Given the description of an element on the screen output the (x, y) to click on. 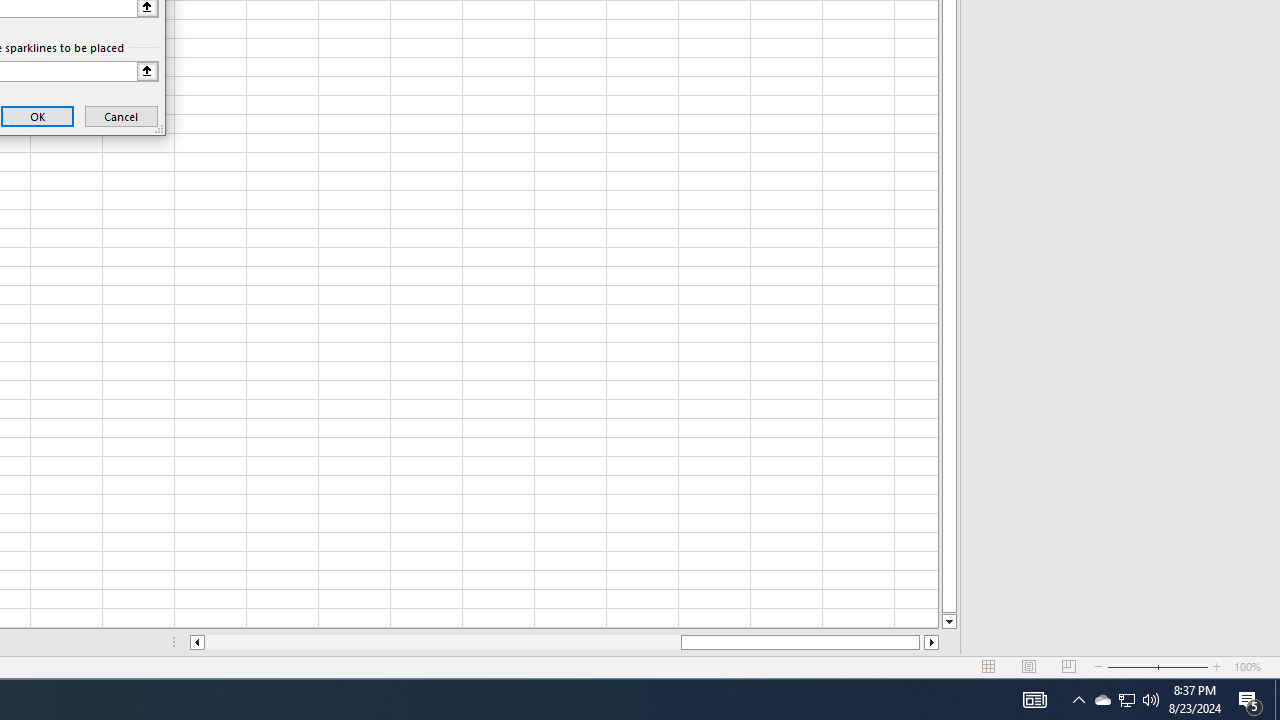
AutomationID: 4105 (1034, 699)
Notification Chevron (1126, 699)
OK (1078, 699)
Action Center, 5 new notifications (37, 116)
User Promoted Notification Area (1250, 699)
Page right (1126, 699)
Page left (922, 642)
